Given the description of an element on the screen output the (x, y) to click on. 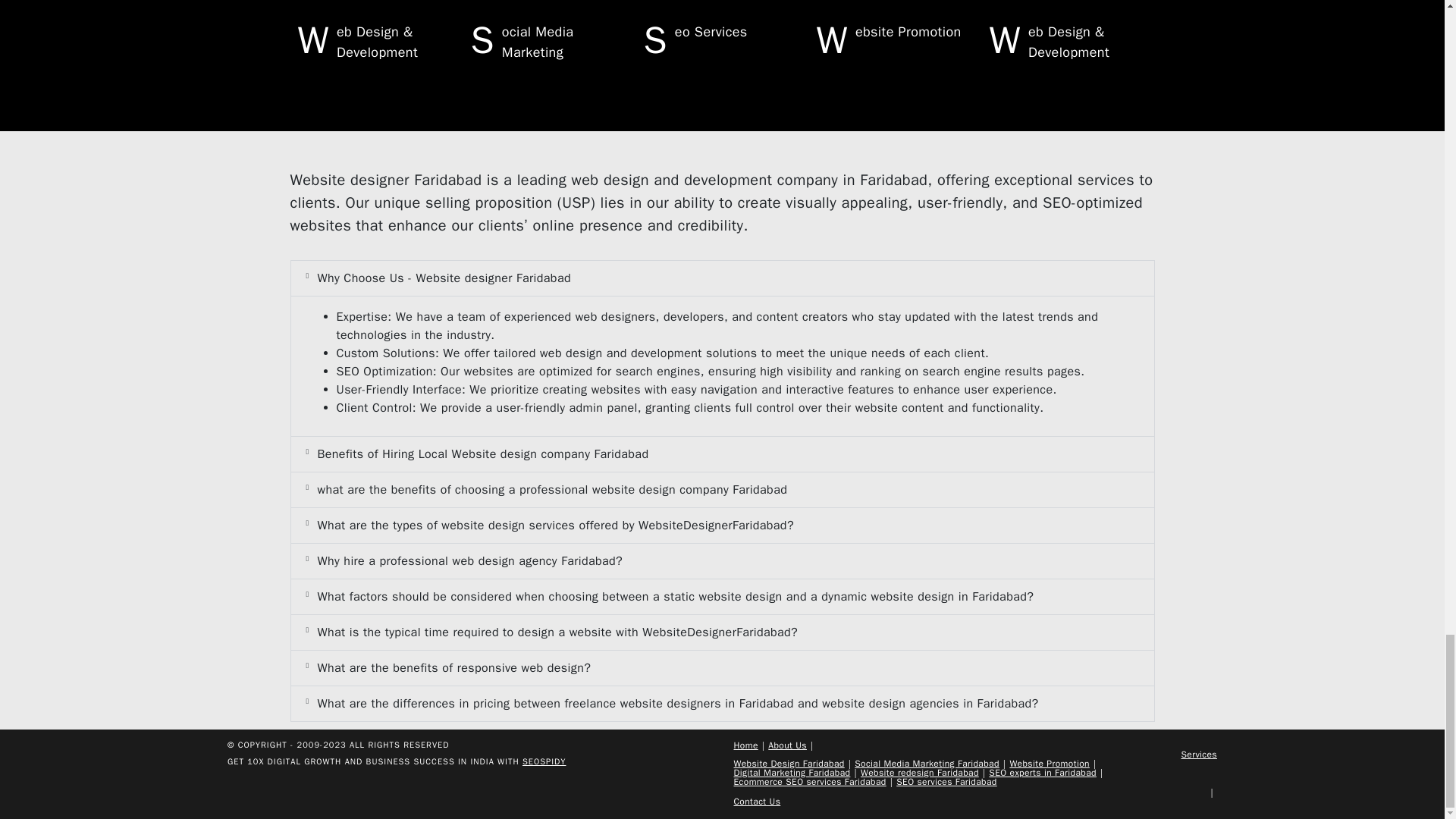
Why hire a professional web design agency Faridabad? (470, 560)
What are the benefits of responsive web design? (454, 667)
Why Choose Us - Website designer Faridabad (443, 278)
Benefits of Hiring Local Website design company Faridabad (482, 453)
